Given the description of an element on the screen output the (x, y) to click on. 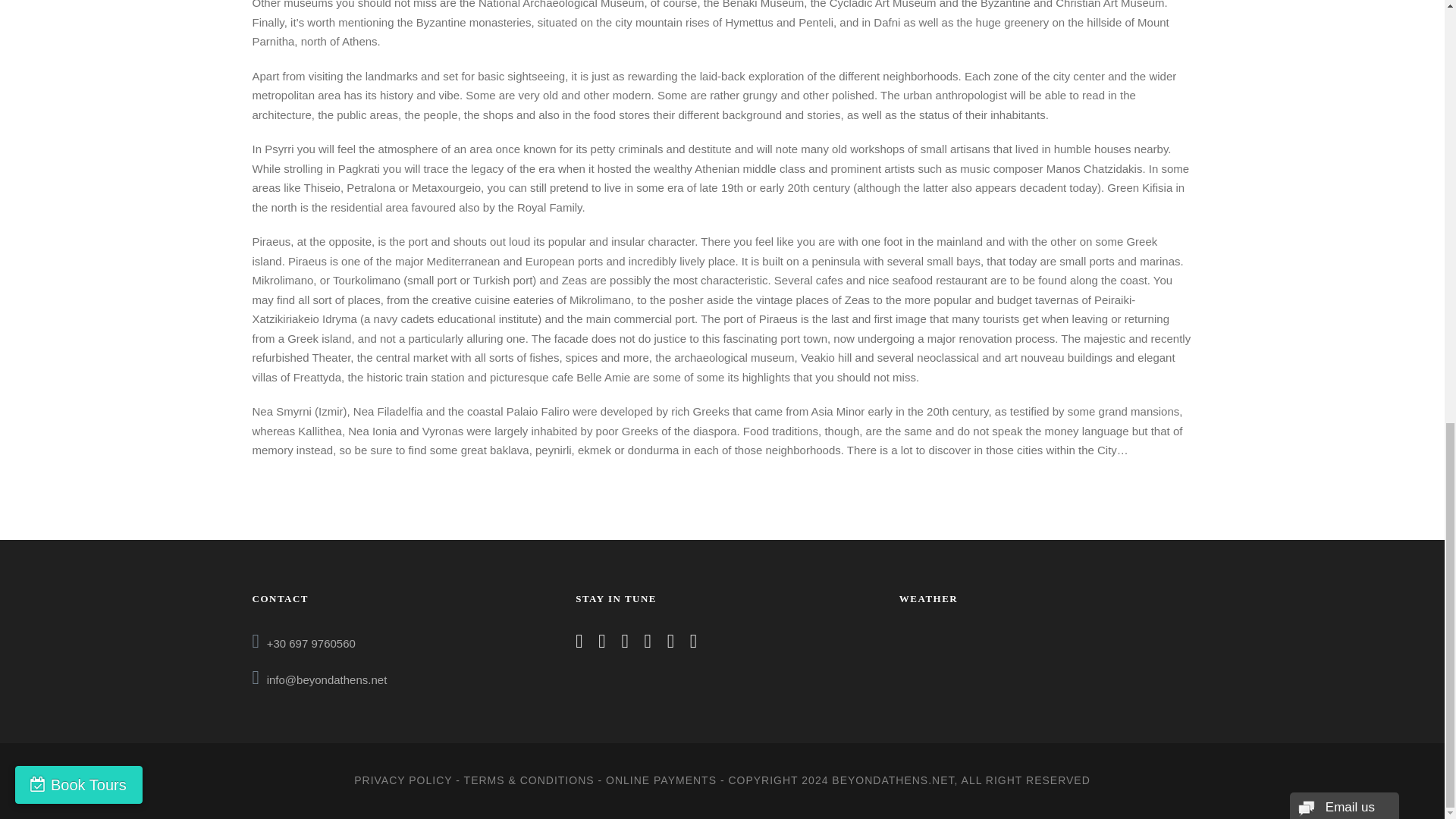
twitter (647, 643)
facebook (578, 643)
FareHarbor (1342, 12)
linkedin (601, 643)
youtube (670, 643)
instagram (693, 643)
pinterest (624, 643)
